Given the description of an element on the screen output the (x, y) to click on. 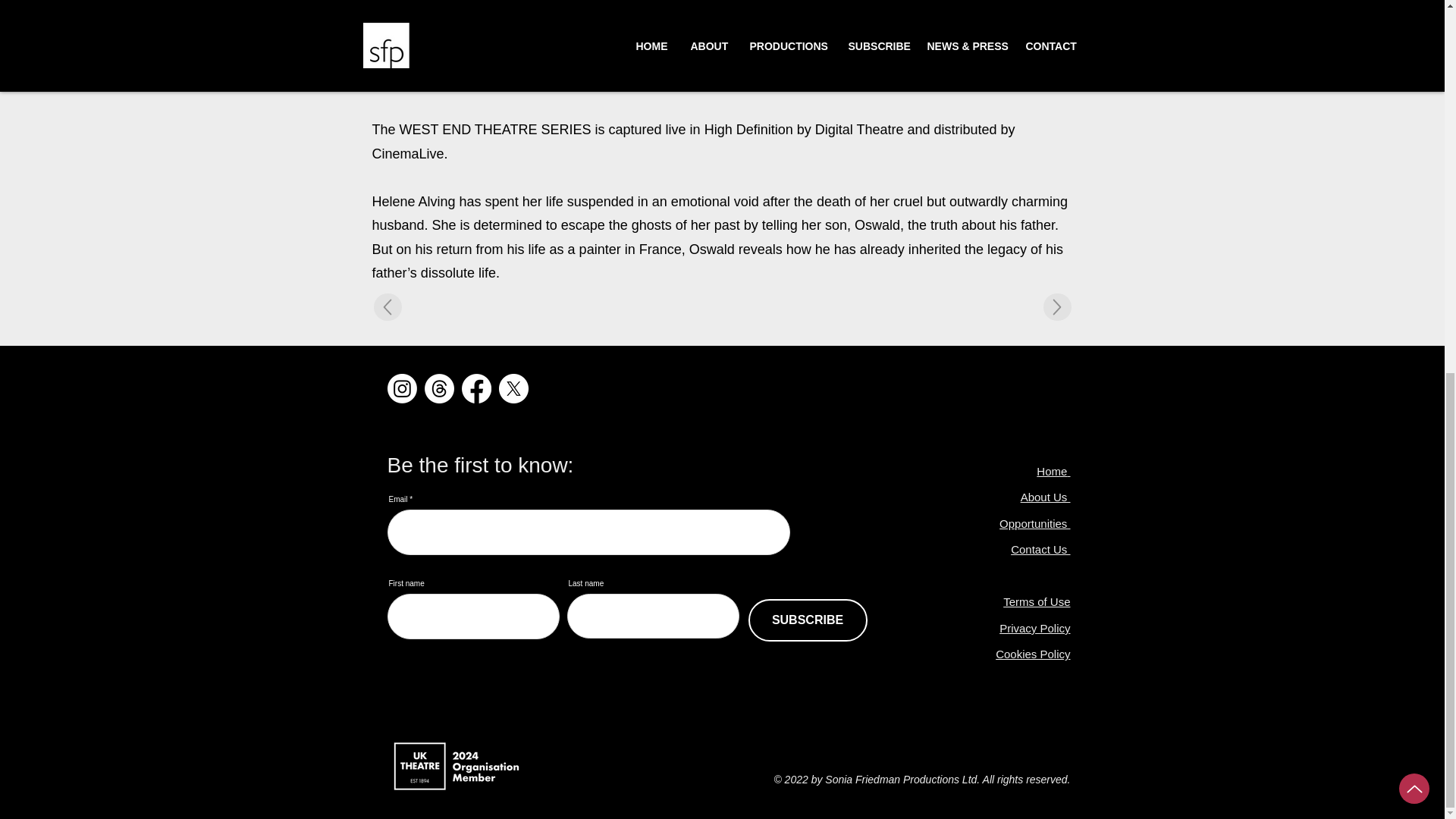
Terms of Use (1036, 601)
About Us  (1045, 496)
Privacy Policy (1034, 627)
Cookies Policy (1032, 653)
SUBSCRIBE (807, 619)
Opportunities  (1034, 522)
Home (1051, 471)
